Given the description of an element on the screen output the (x, y) to click on. 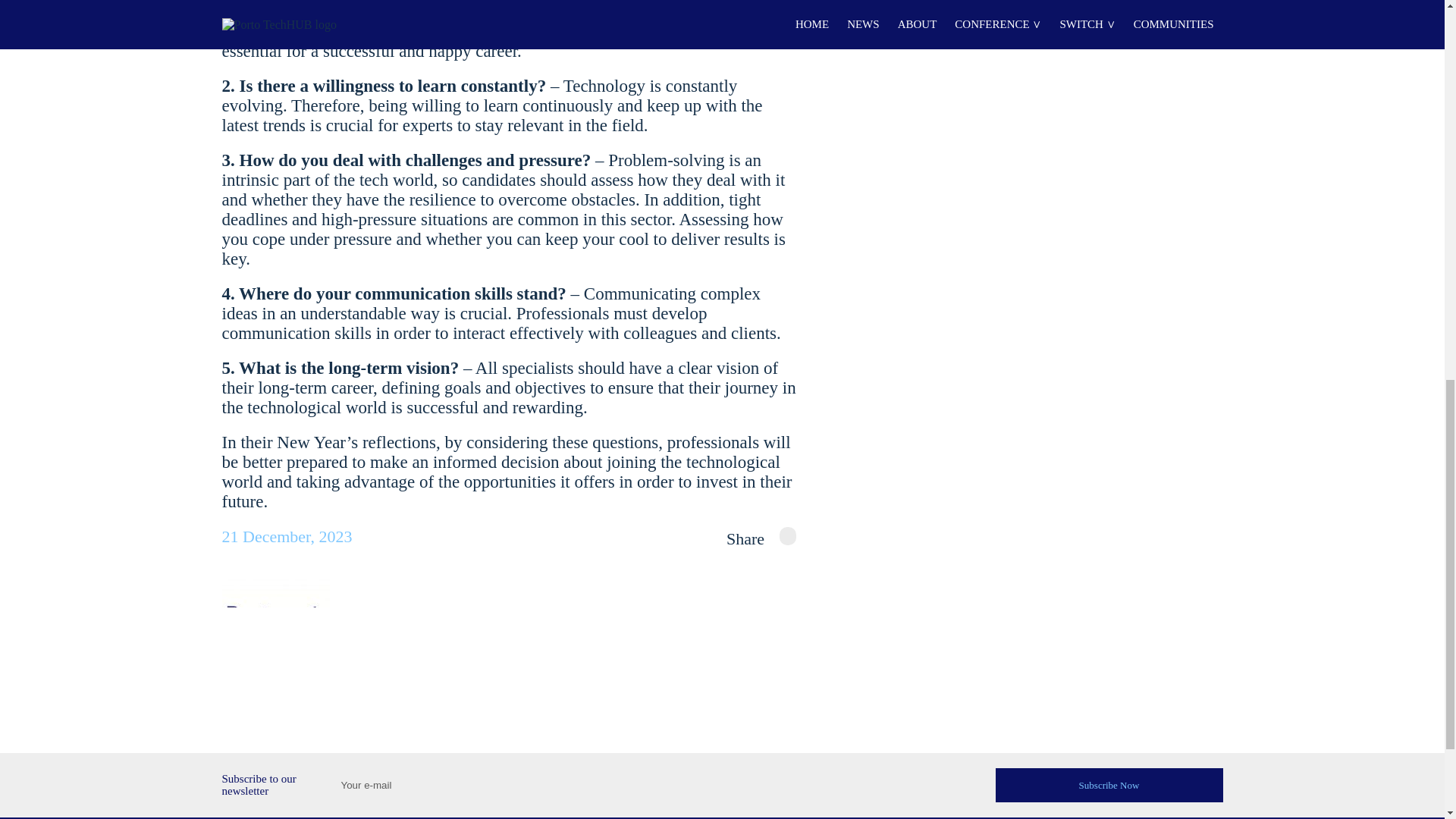
Subscribe Now (1108, 784)
